Given the description of an element on the screen output the (x, y) to click on. 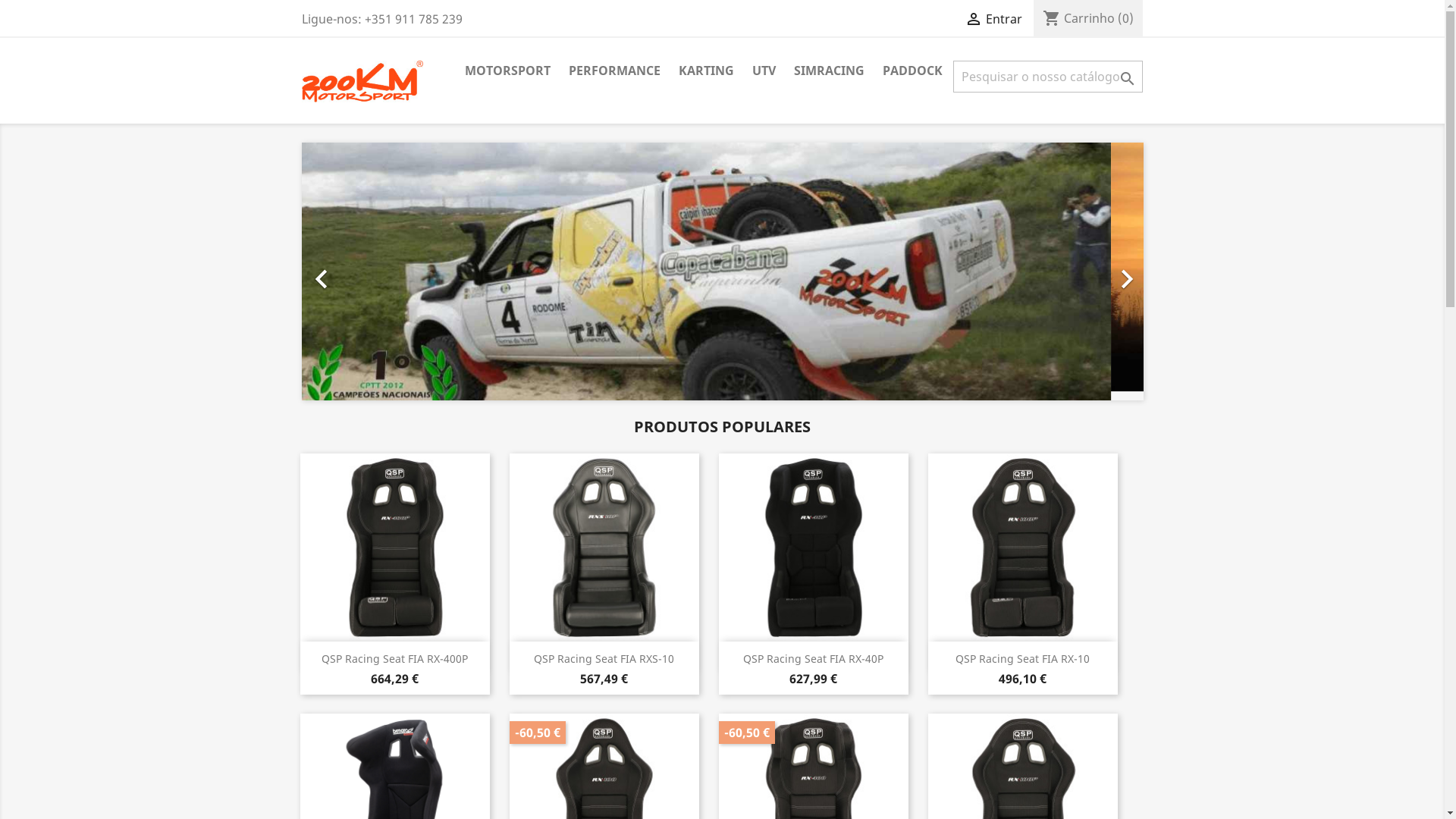
QSP Racing Seat FIA RX-40P Element type: text (813, 658)
MOTORSPORT Element type: text (506, 71)
QSP Racing Seat FIA RXS-10 Element type: text (603, 658)
SIMRACING Element type: text (828, 71)
QSP Racing Seat FIA RX-400P Element type: text (394, 658)
PERFORMANCE Element type: text (614, 71)
QSP Racing Seat FIA RX-10 Element type: text (1022, 658)
PADDOCK Element type: text (912, 71)
KARTING Element type: text (705, 71)
UTV Element type: text (763, 71)
